Given the description of an element on the screen output the (x, y) to click on. 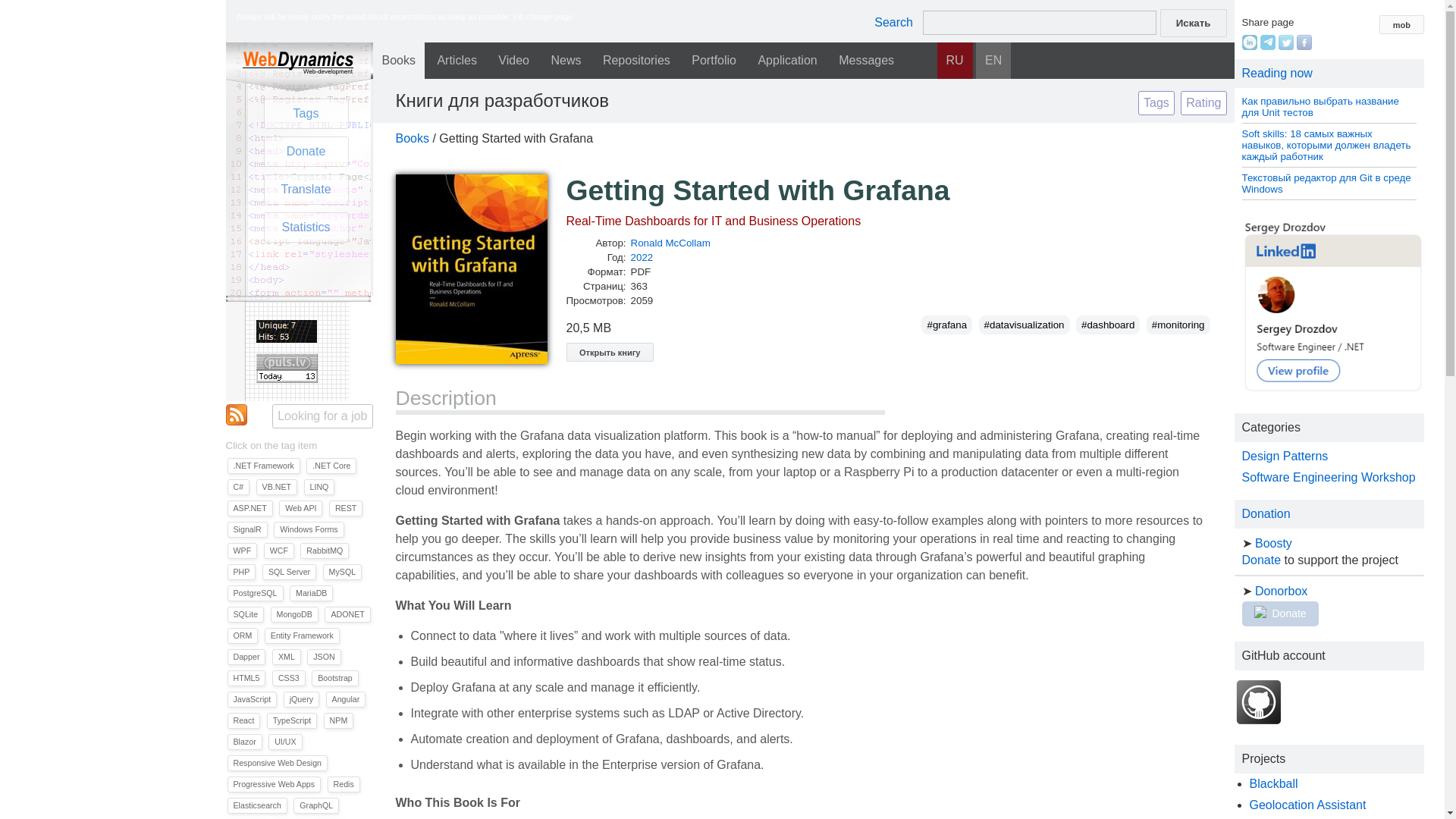
Tags (306, 113)
HTML5 (246, 678)
SignalR (247, 529)
REST (345, 508)
job change page (542, 16)
WPF (242, 550)
Entity Framework (301, 635)
Facebook (1304, 45)
PostgreSQL (255, 593)
PHP (241, 571)
